Given the description of an element on the screen output the (x, y) to click on. 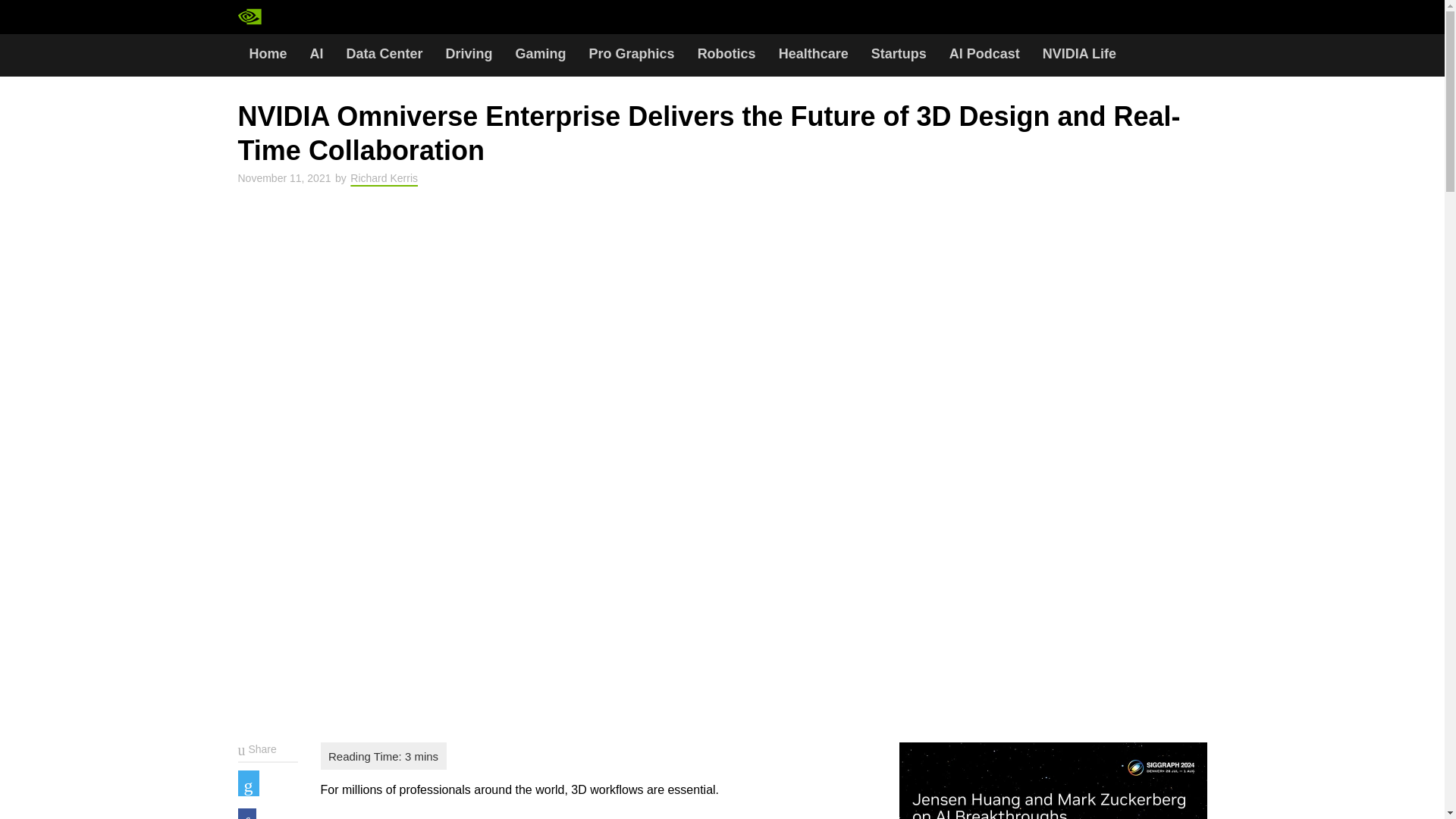
AI Podcast (983, 55)
Richard Kerris (383, 177)
View all posts by Richard Kerris (383, 177)
NVIDIA Life (1078, 55)
Artificial Intelligence Computing Leadership from NVIDIA (279, 16)
Robotics (726, 55)
Home (268, 55)
Artificial Intelligence Computing Leadership from NVIDIA (314, 16)
Startups (898, 55)
Driving (468, 55)
